Given the description of an element on the screen output the (x, y) to click on. 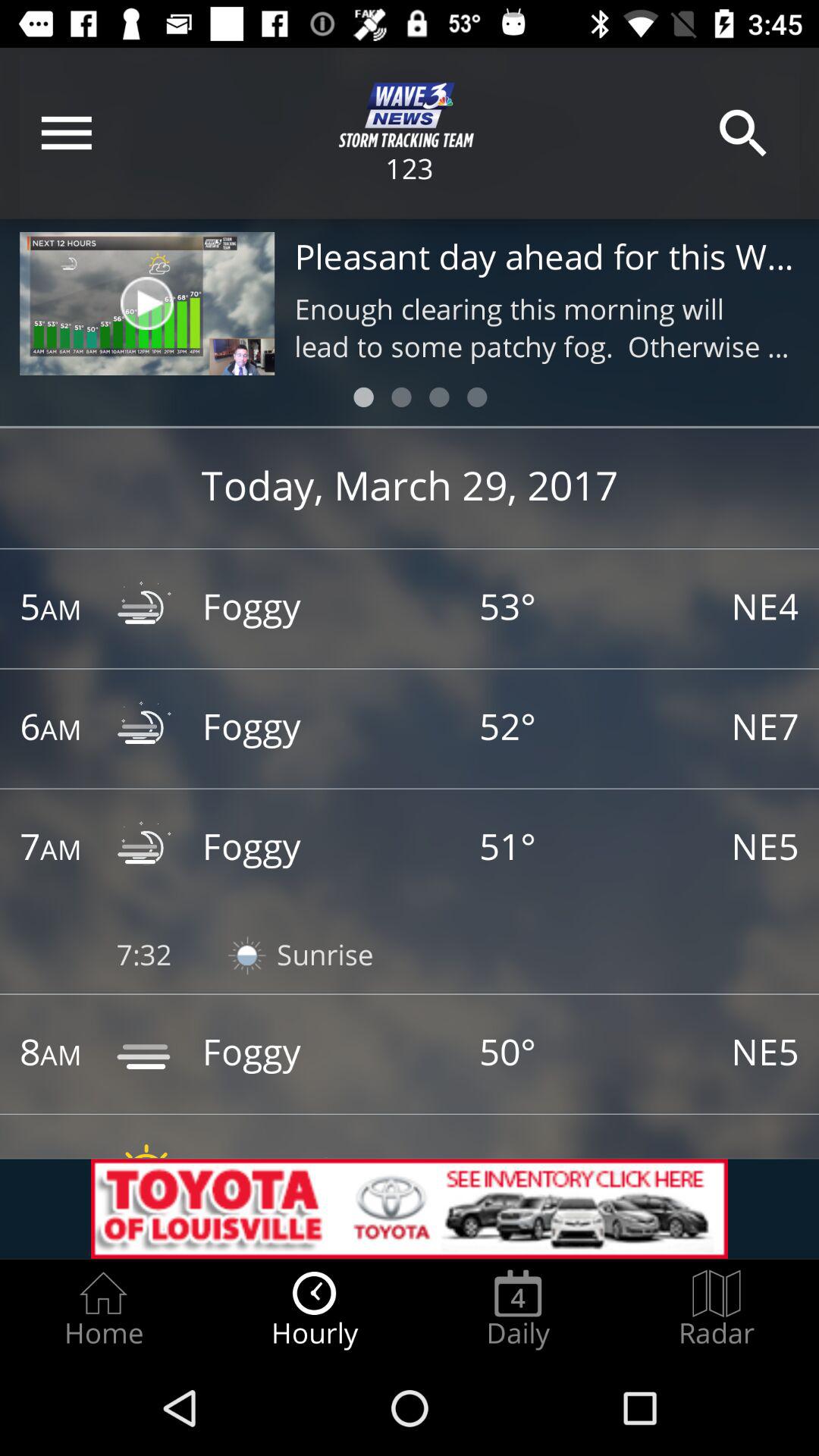
press icon to the left of the hourly item (103, 1309)
